Given the description of an element on the screen output the (x, y) to click on. 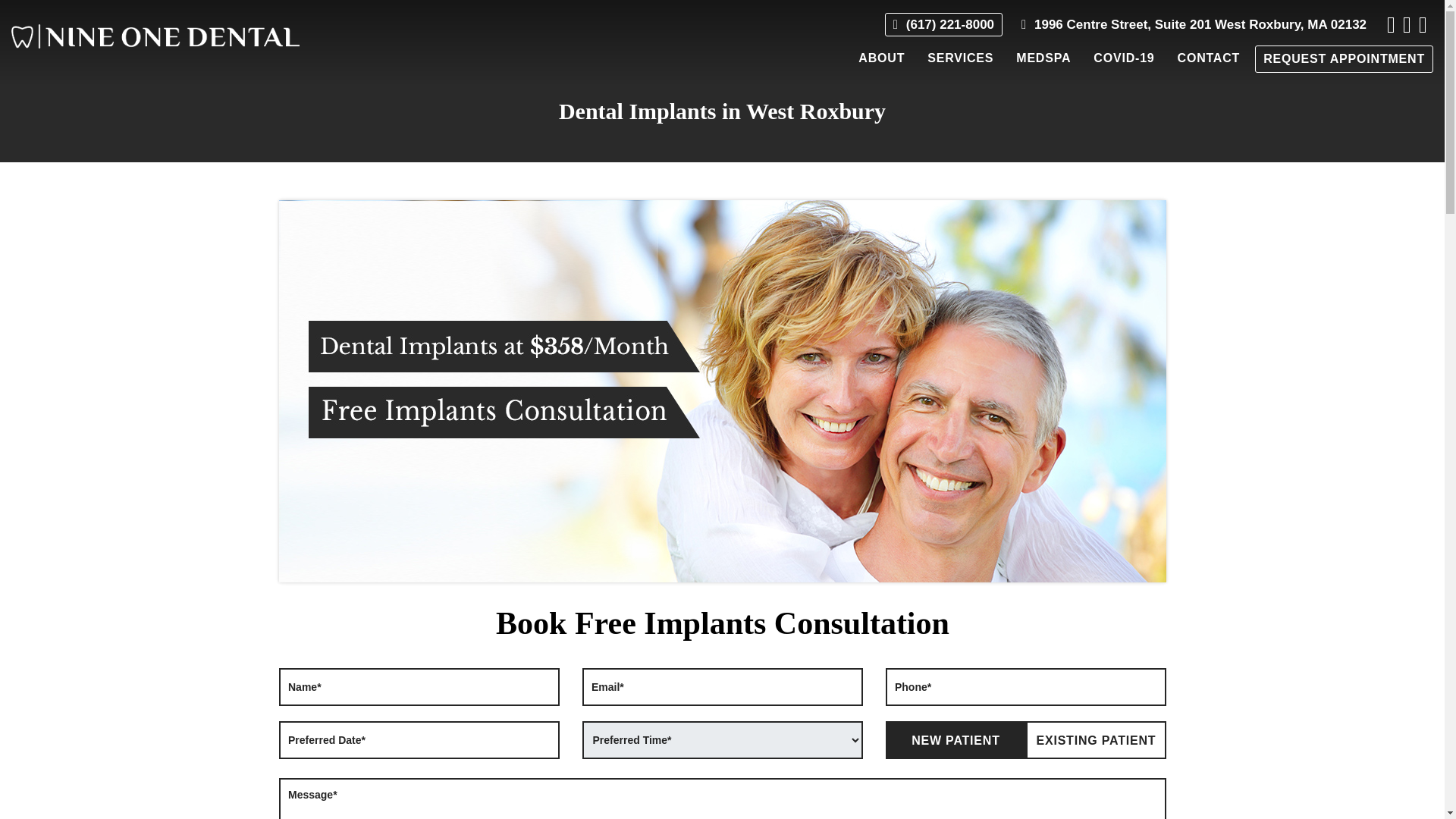
SERVICES (960, 58)
Nine One Dental (155, 36)
1996 Centre Street, Suite 201 West Roxbury, MA 02132 (1194, 24)
MEDSPA (1043, 58)
ABOUT (881, 58)
ABOUT (881, 58)
COVID-19 (1123, 58)
SERVICES (960, 58)
CONTACT (1208, 58)
